Given the description of an element on the screen output the (x, y) to click on. 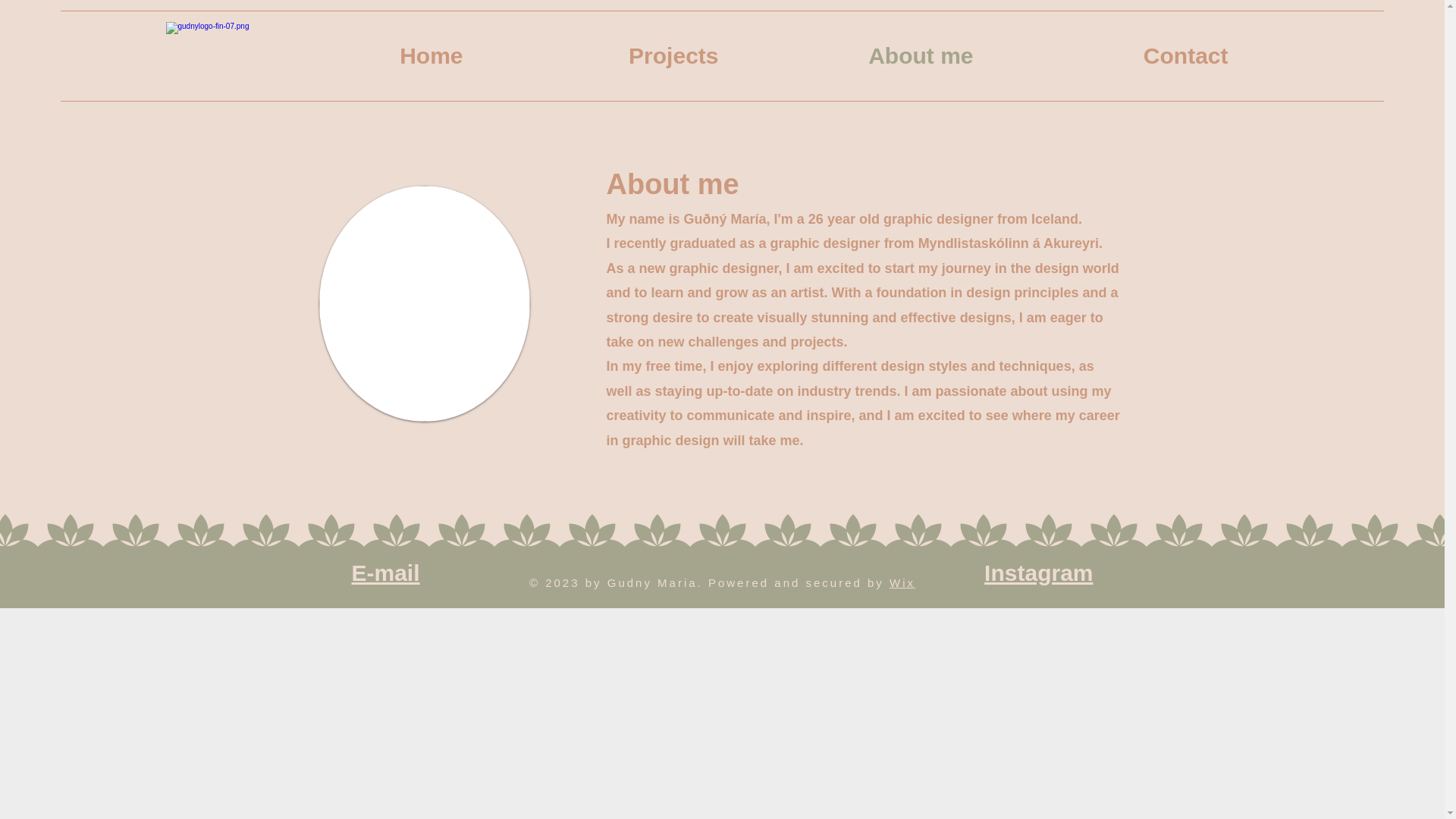
Contact (1111, 55)
E-mail (386, 572)
About me (856, 55)
Projects (602, 55)
Instagram (1038, 572)
Home (346, 55)
